Given the description of an element on the screen output the (x, y) to click on. 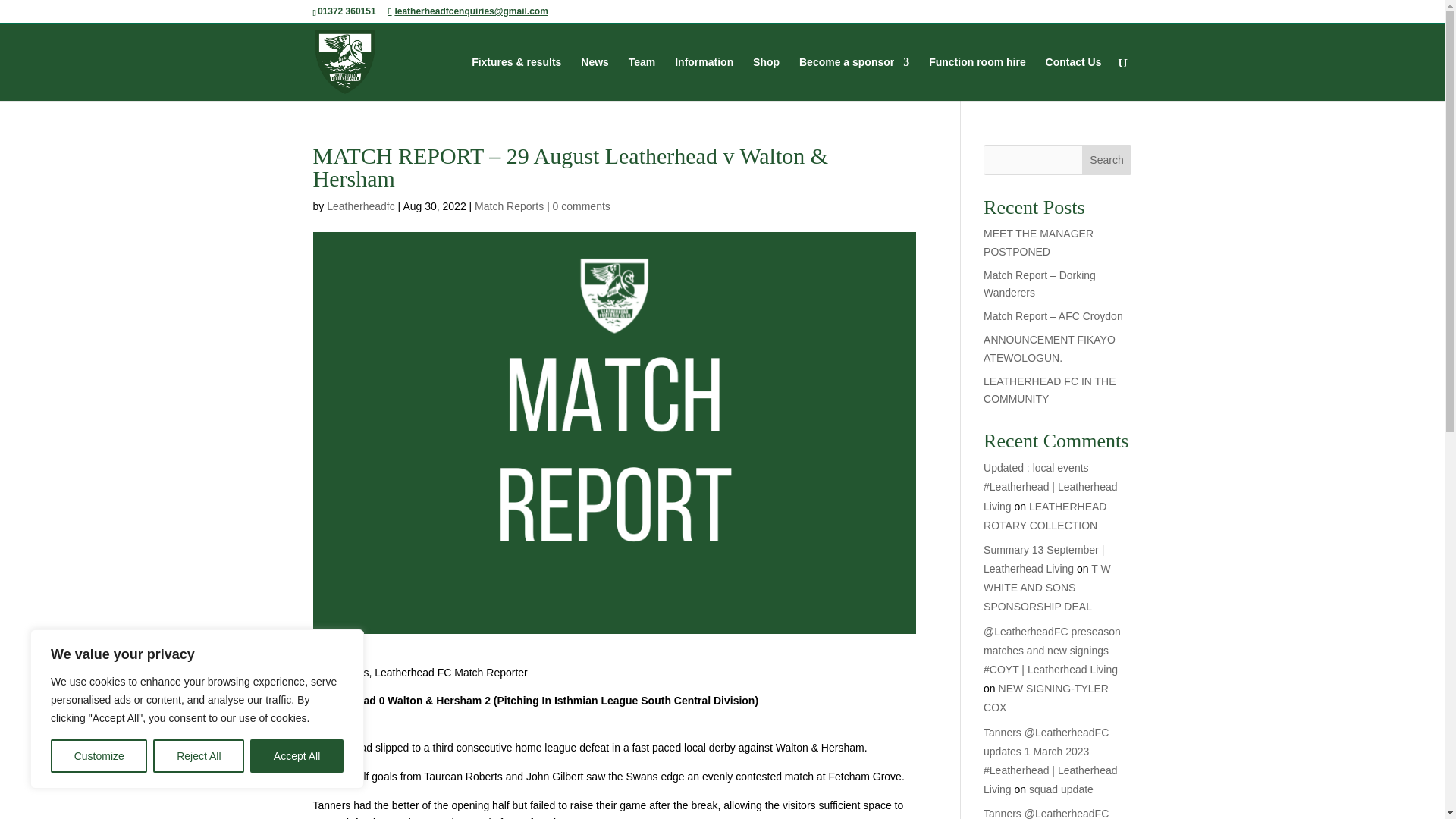
Leatherheadfc (360, 205)
Match Reports (508, 205)
Customize (98, 756)
Contact Us (1073, 78)
Search (1106, 159)
Become a sponsor (853, 78)
Posts by Leatherheadfc (360, 205)
Reject All (198, 756)
0 comments (581, 205)
Information (704, 78)
Accept All (296, 756)
MEET THE MANAGER POSTPONED (1038, 242)
Function room hire (977, 78)
